Given the description of an element on the screen output the (x, y) to click on. 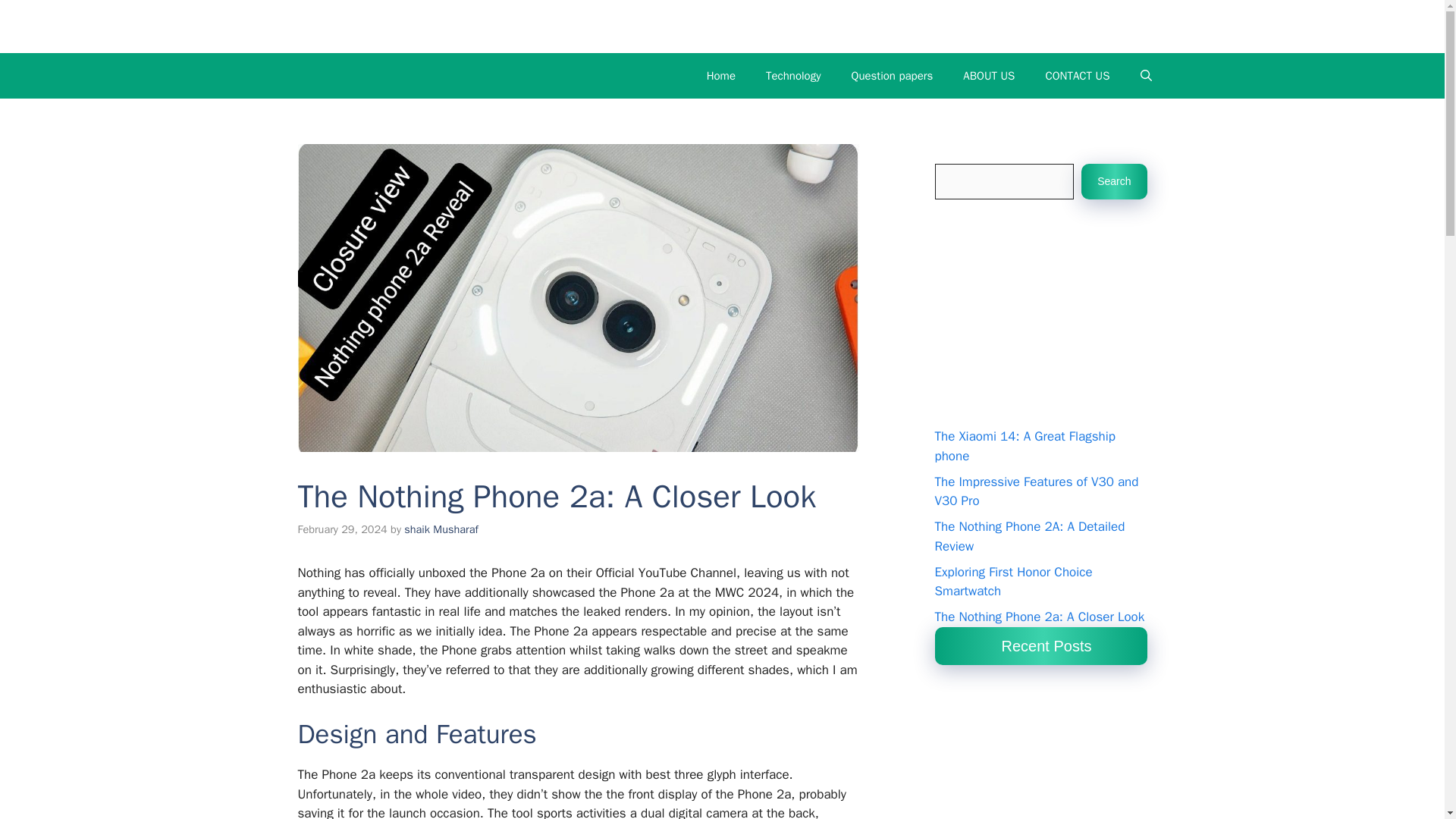
The Nothing Phone 2A: A Detailed Review (1029, 536)
shaik Musharaf (440, 529)
Technology (793, 75)
The Nothing Phone 2a: A Closer Look (1039, 616)
The Impressive Features of V30 and V30 Pro (1036, 490)
Search (1114, 181)
Home (721, 75)
The Xiaomi 14: A Great Flagship phone (1024, 446)
Exploring First Honor Choice Smartwatch (1013, 581)
Earnmoj (334, 25)
CONTACT US (1076, 75)
View all posts by shaik Musharaf (440, 529)
Question papers (891, 75)
ABOUT US (988, 75)
